Given the description of an element on the screen output the (x, y) to click on. 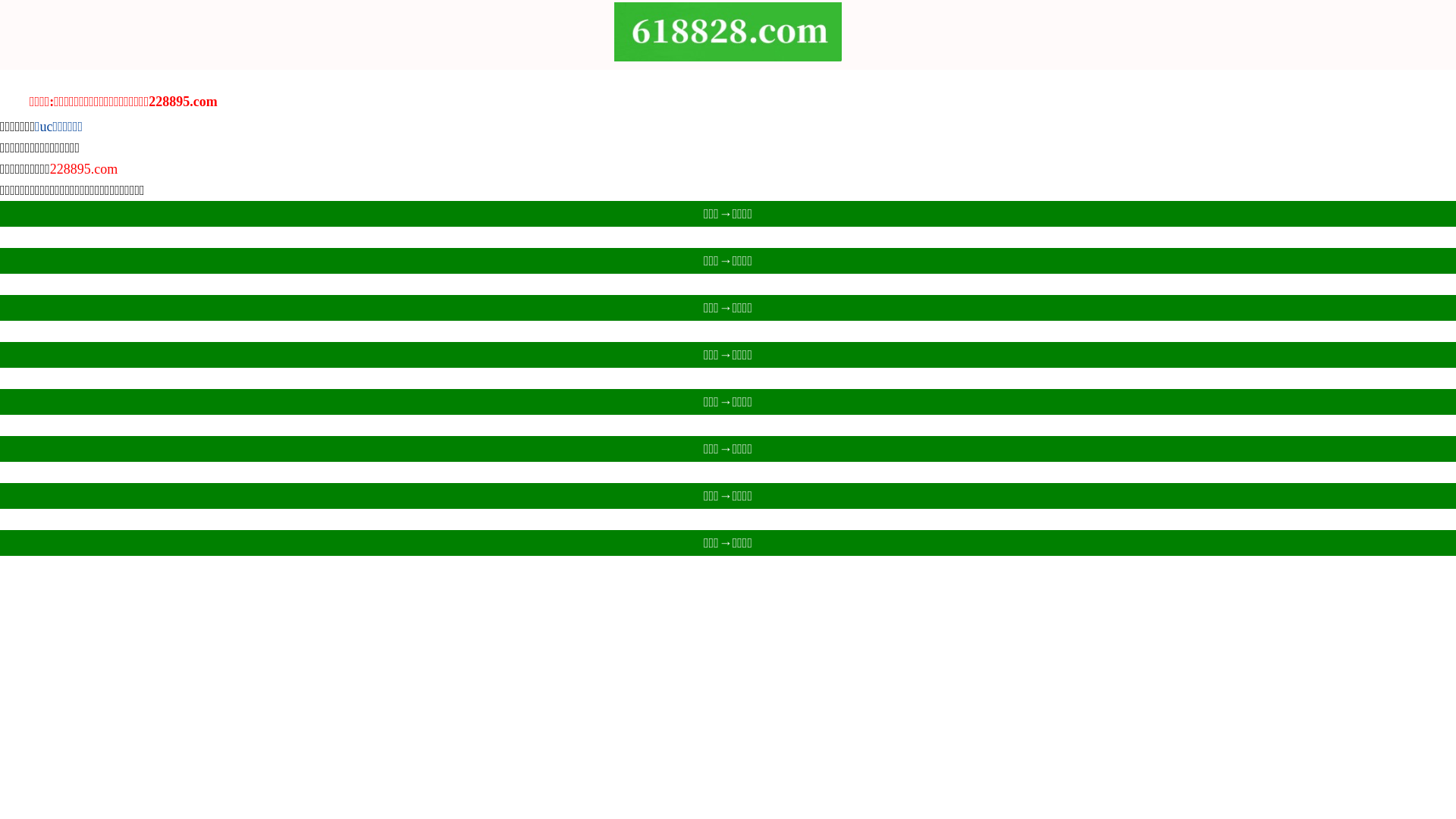
228895.com Element type: text (84, 168)
